Given the description of an element on the screen output the (x, y) to click on. 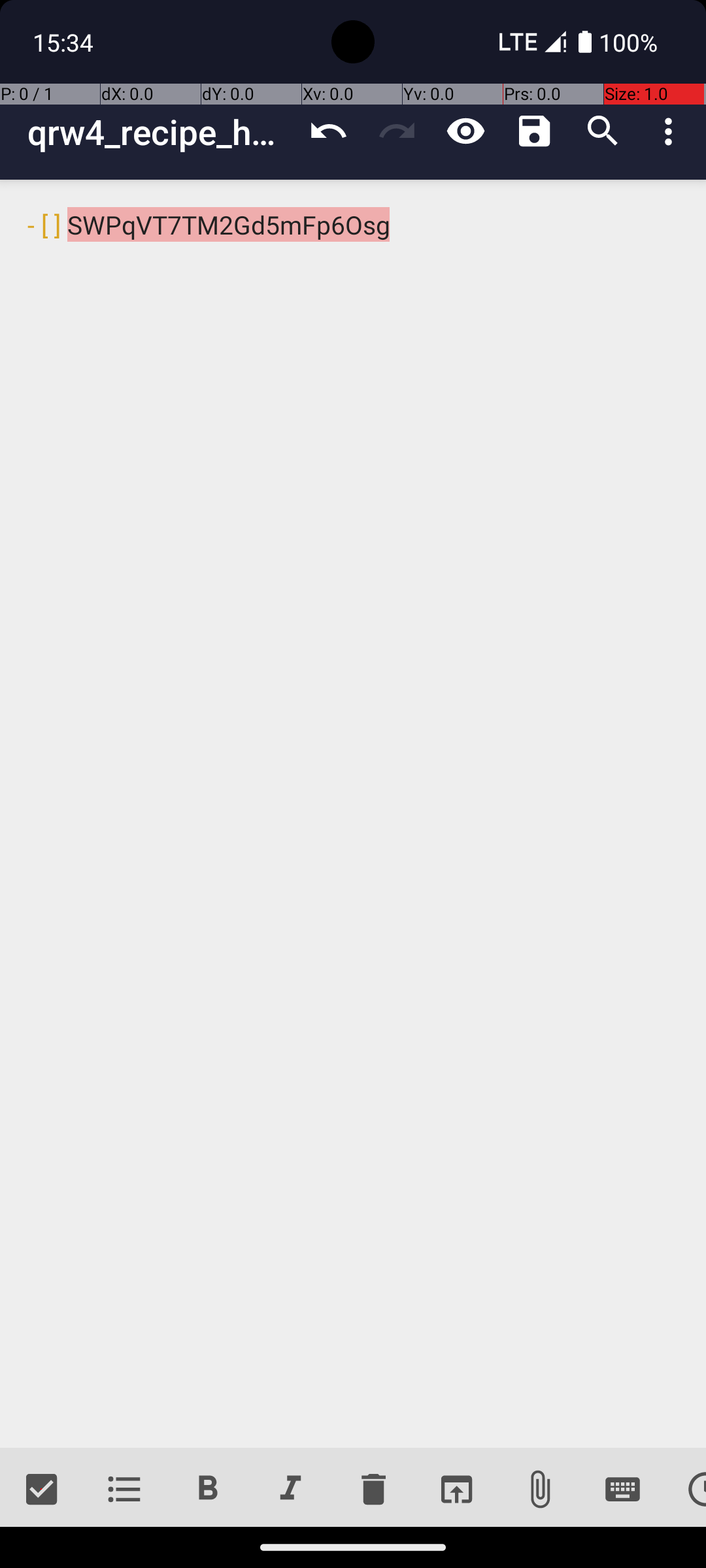
qrw4_recipe_homemade_pizza Element type: android.widget.TextView (160, 131)
SWPqVT7TM2Gd5mFp6Osg Element type: android.widget.EditText (353, 813)
